Given the description of an element on the screen output the (x, y) to click on. 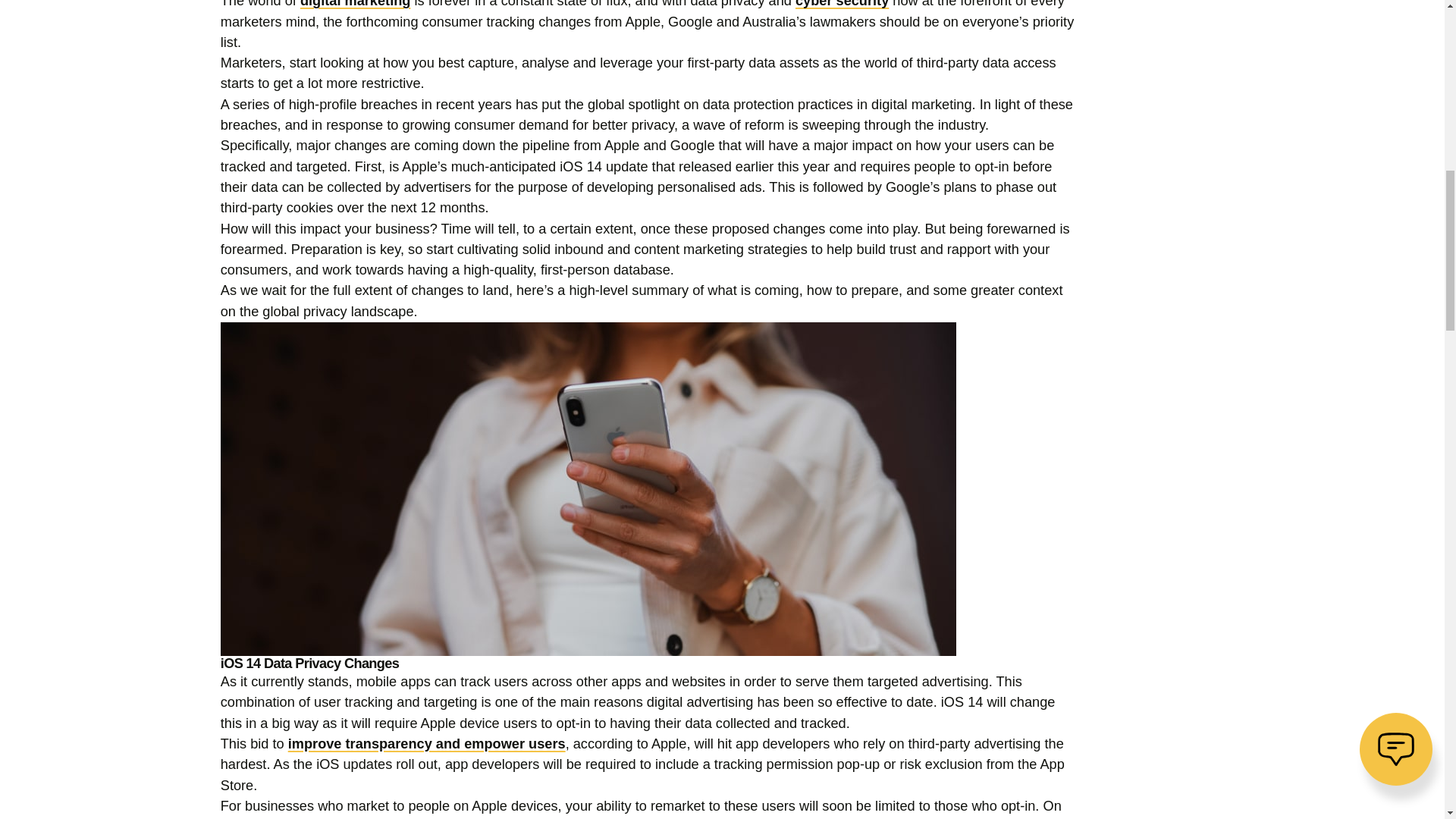
digital marketing (354, 4)
improve transparency and empower users (427, 743)
cyber security (841, 4)
